Given the description of an element on the screen output the (x, y) to click on. 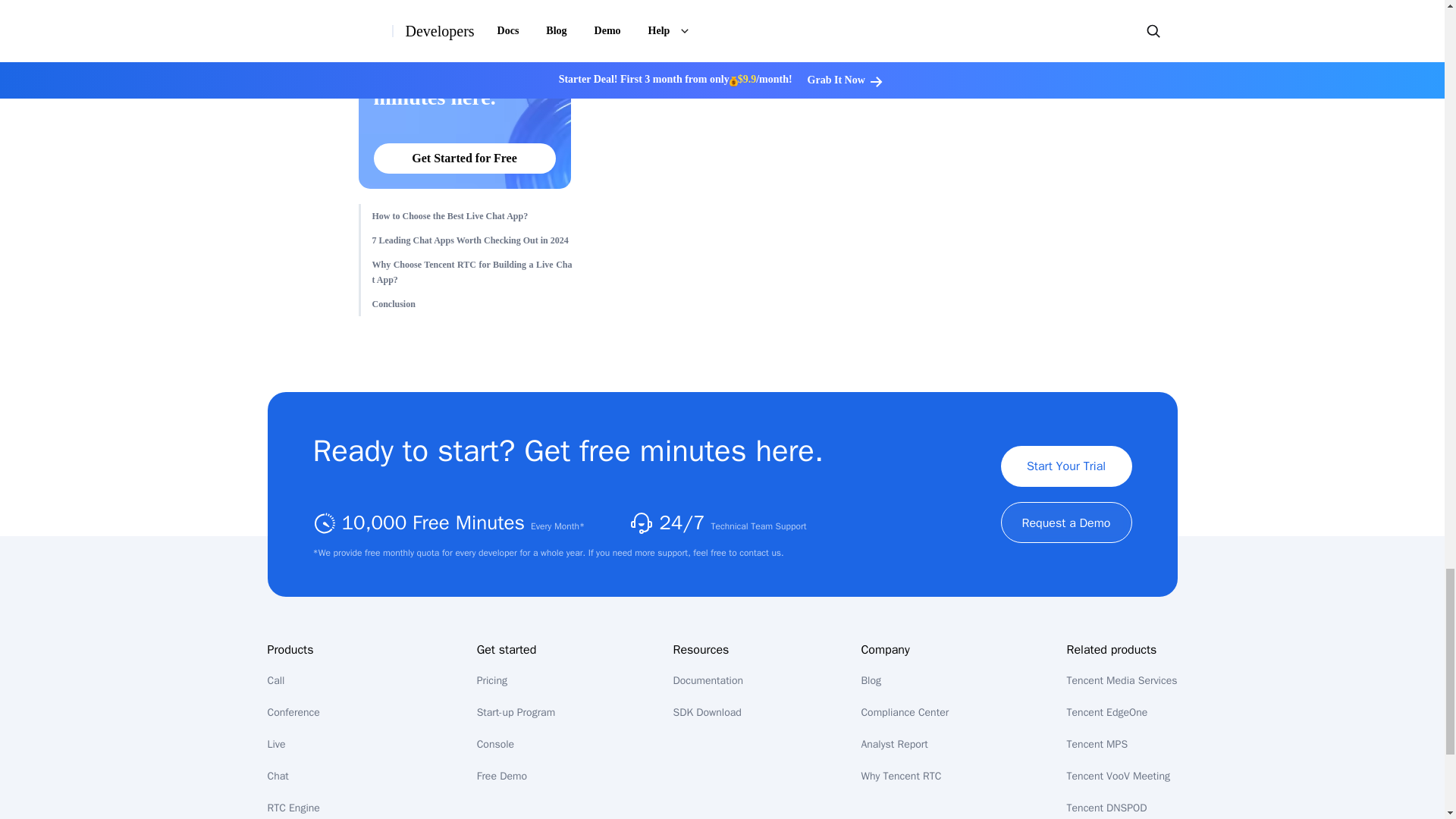
Free Demo (502, 775)
Why Choose Tencent RTC for Building a Live Chat App? (471, 271)
SDK Download (706, 712)
Documentation (708, 680)
Tencent DNSPOD (1107, 807)
Conference (292, 712)
7 Leading Chat Apps Worth Checking Out in 2024 (471, 240)
Conclusion (471, 303)
Live (275, 744)
Call (274, 680)
